Given the description of an element on the screen output the (x, y) to click on. 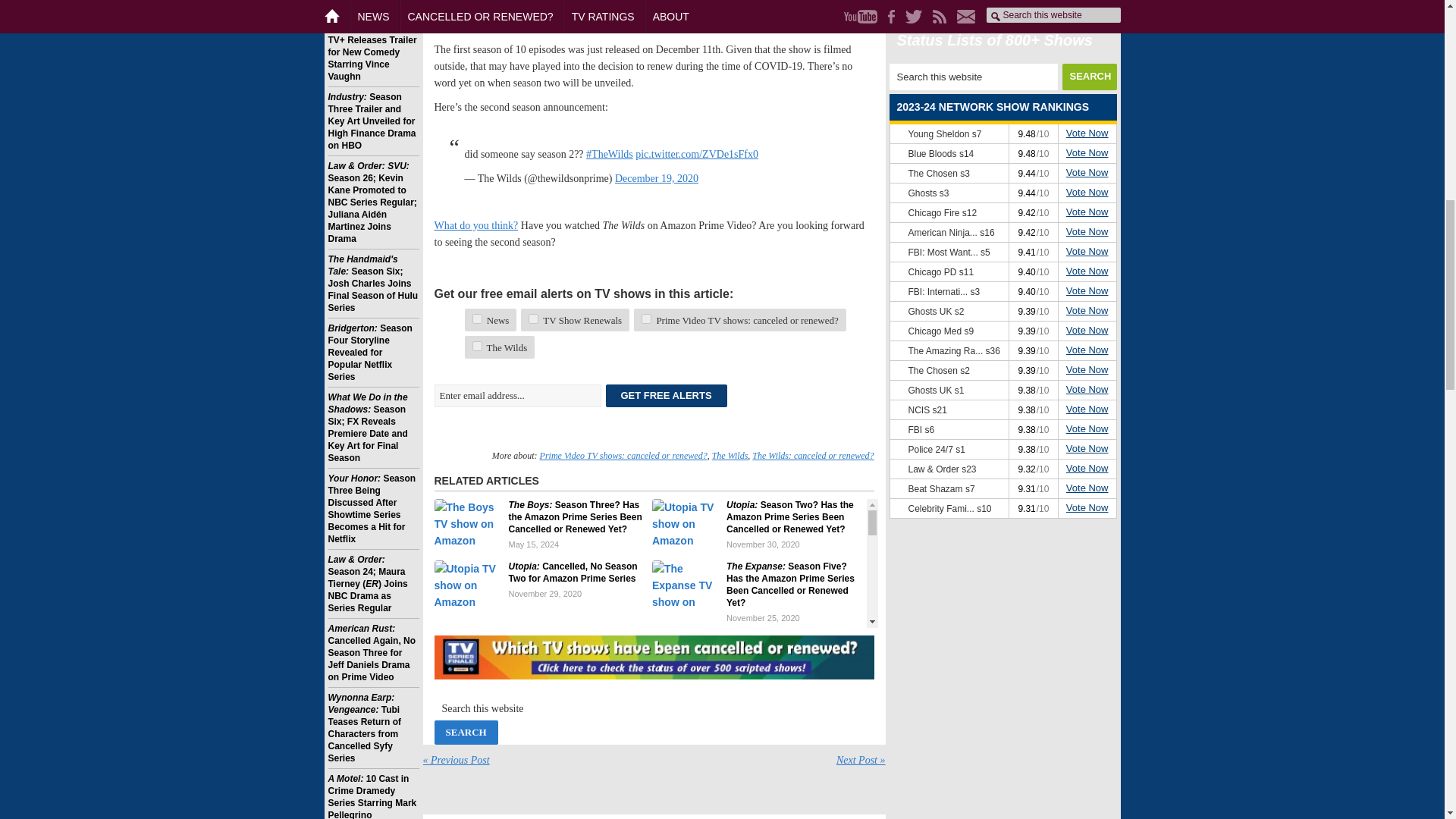
What do you think? (475, 225)
prime-video-tv-shows-canceled-or-renewed (646, 318)
GET FREE ALERTS (665, 395)
Search (465, 732)
tv-show-renewals (533, 318)
TV shows: canceled or renewed? (653, 657)
The Wilds: canceled or renewed? (812, 455)
Prime Video TV shows: canceled or renewed? (623, 455)
The Wilds (729, 455)
Search (1088, 76)
the-wilds (476, 346)
Search (465, 732)
December 19, 2020 (656, 178)
news (476, 318)
Search (1088, 76)
